Given the description of an element on the screen output the (x, y) to click on. 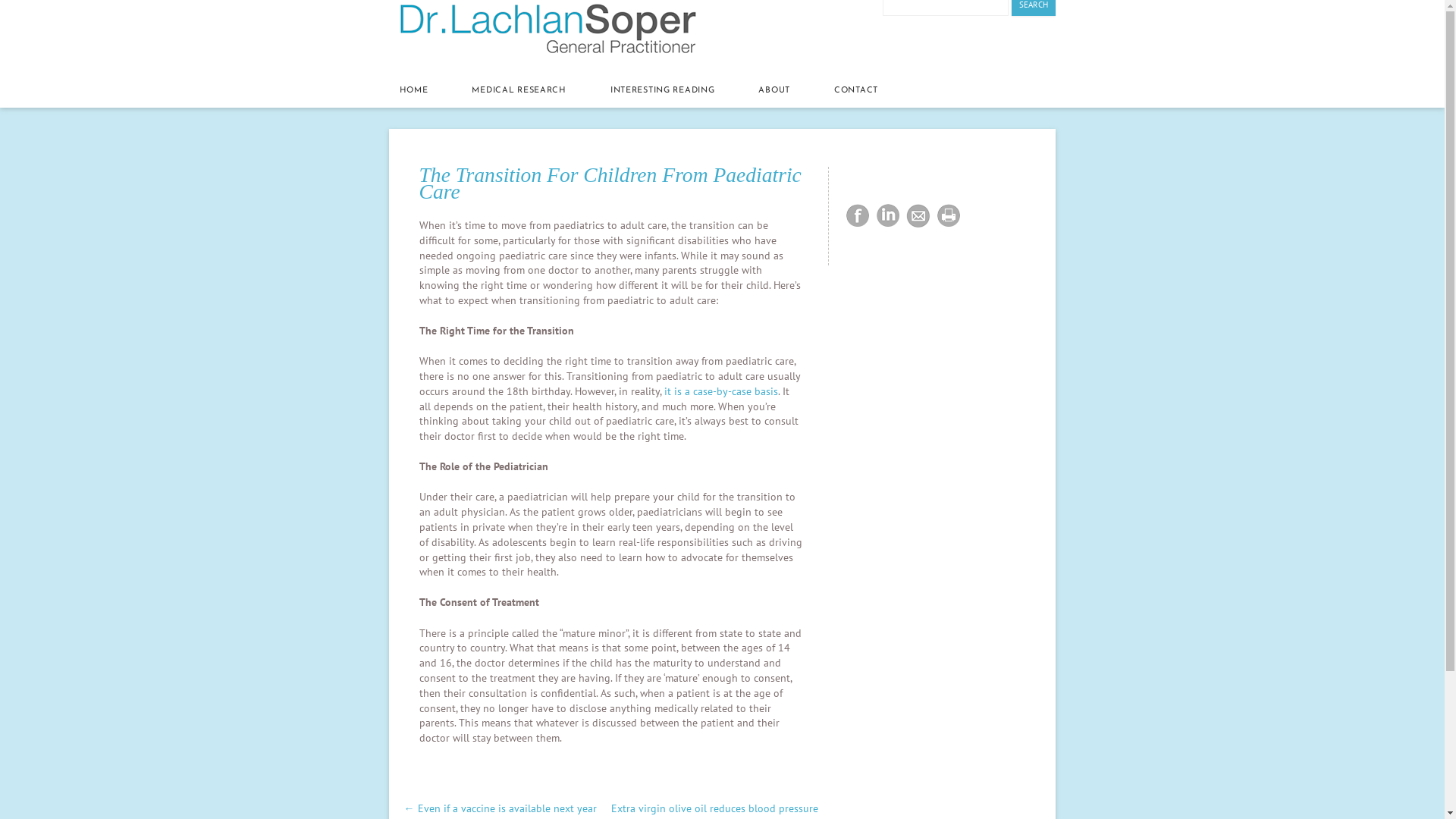
Skip to content Element type: text (389, 68)
Facebook Element type: hover (857, 216)
INTERESTING READING Element type: text (662, 90)
it is a case-by-case basis Element type: text (721, 391)
Interesting Reading Element type: text (560, 772)
CONTACT Element type: text (856, 90)
Email Element type: hover (918, 216)
MEDICAL RESEARCH Element type: text (518, 90)
Print Element type: hover (948, 216)
August 28, 2020 Element type: text (648, 772)
HOME Element type: text (413, 90)
ABOUT Element type: text (774, 90)
LinkedIn Element type: hover (887, 216)
